Given the description of an element on the screen output the (x, y) to click on. 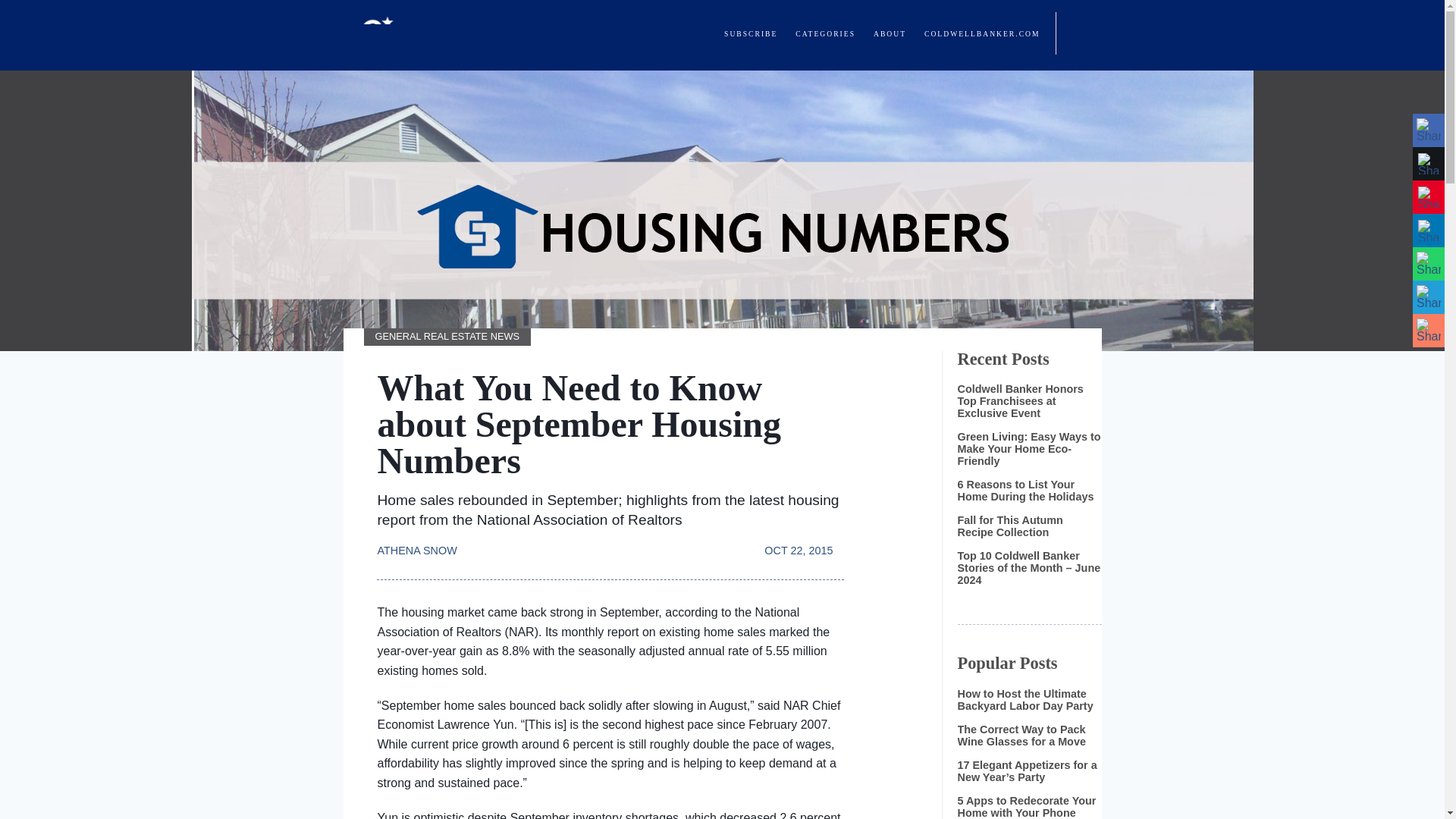
ABOUT (889, 33)
How to Host the Ultimate Backyard Labor Day Party (1024, 699)
Search (1078, 33)
CATEGORIES (825, 33)
6 Reasons to List Your Home During the Holidays (1024, 490)
5 Apps to Redecorate Your Home with Your Phone (1026, 806)
SUBSCRIBE (750, 33)
Green Living: Easy Ways to Make Your Home Eco-Friendly (1028, 448)
COLDWELLBANKER.COM (981, 33)
GENERAL REAL ESTATE NEWS (447, 336)
Fall for This Autumn Recipe Collection (1009, 526)
Posts by Athena Snow (422, 542)
ATHENA SNOW (422, 542)
The Correct Way to Pack Wine Glasses for a Move (1020, 735)
Coldwell Banker Honors Top Franchisees at Exclusive Event (1019, 401)
